Given the description of an element on the screen output the (x, y) to click on. 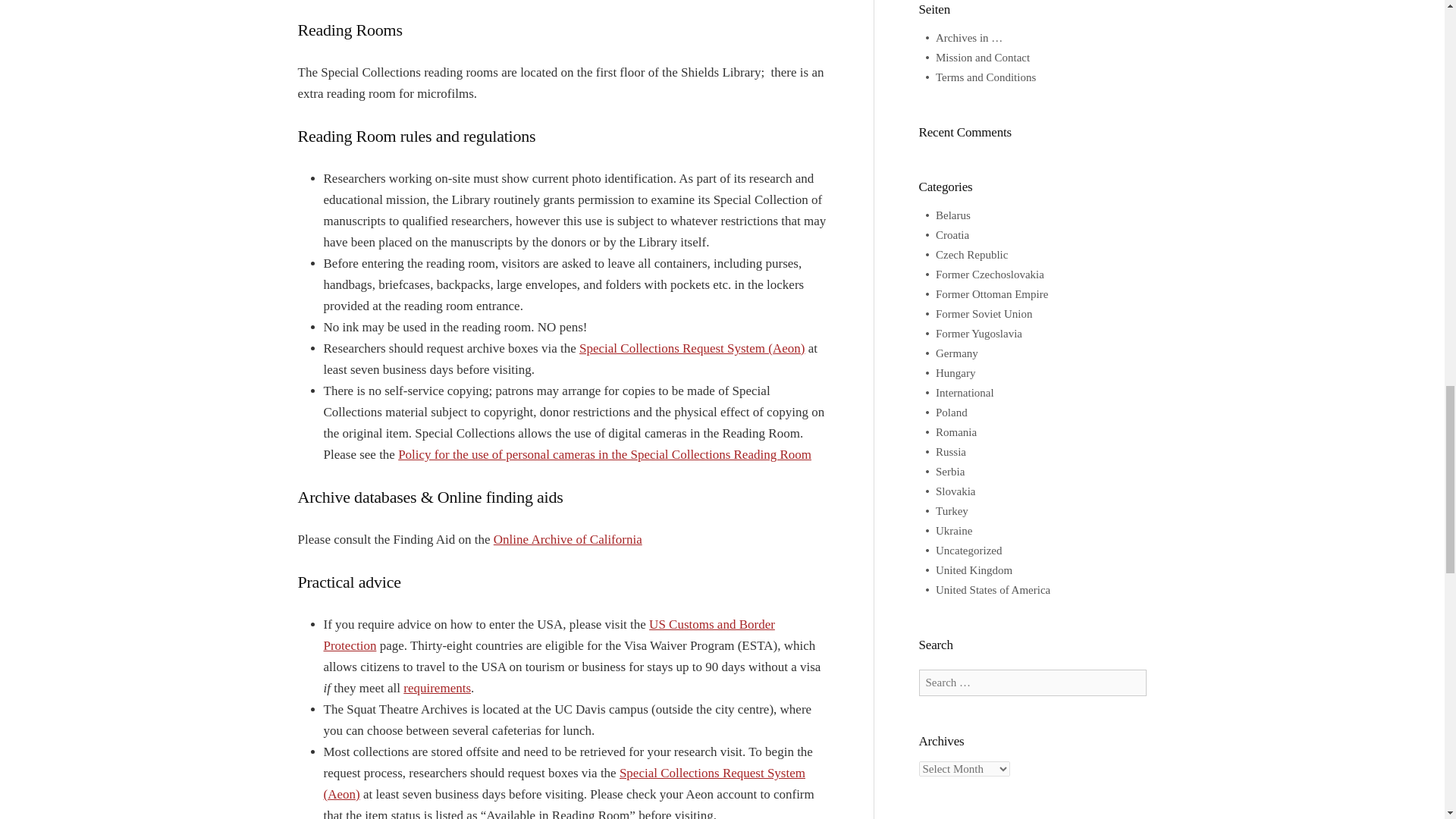
Online Archive of California (567, 539)
US Customs and Border Protection (548, 634)
requirements (436, 687)
